Given the description of an element on the screen output the (x, y) to click on. 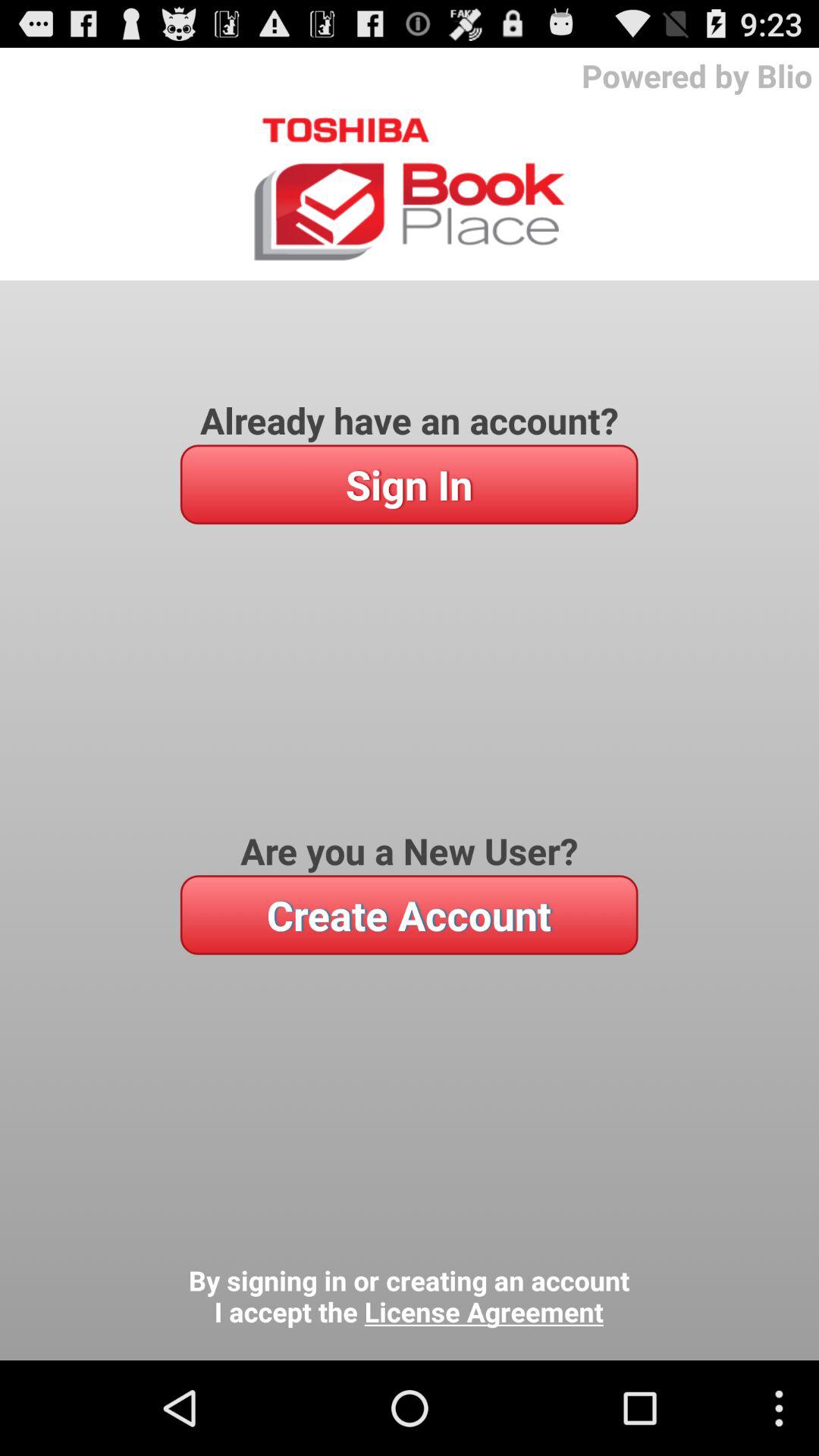
scroll to the by signing in (408, 1296)
